Given the description of an element on the screen output the (x, y) to click on. 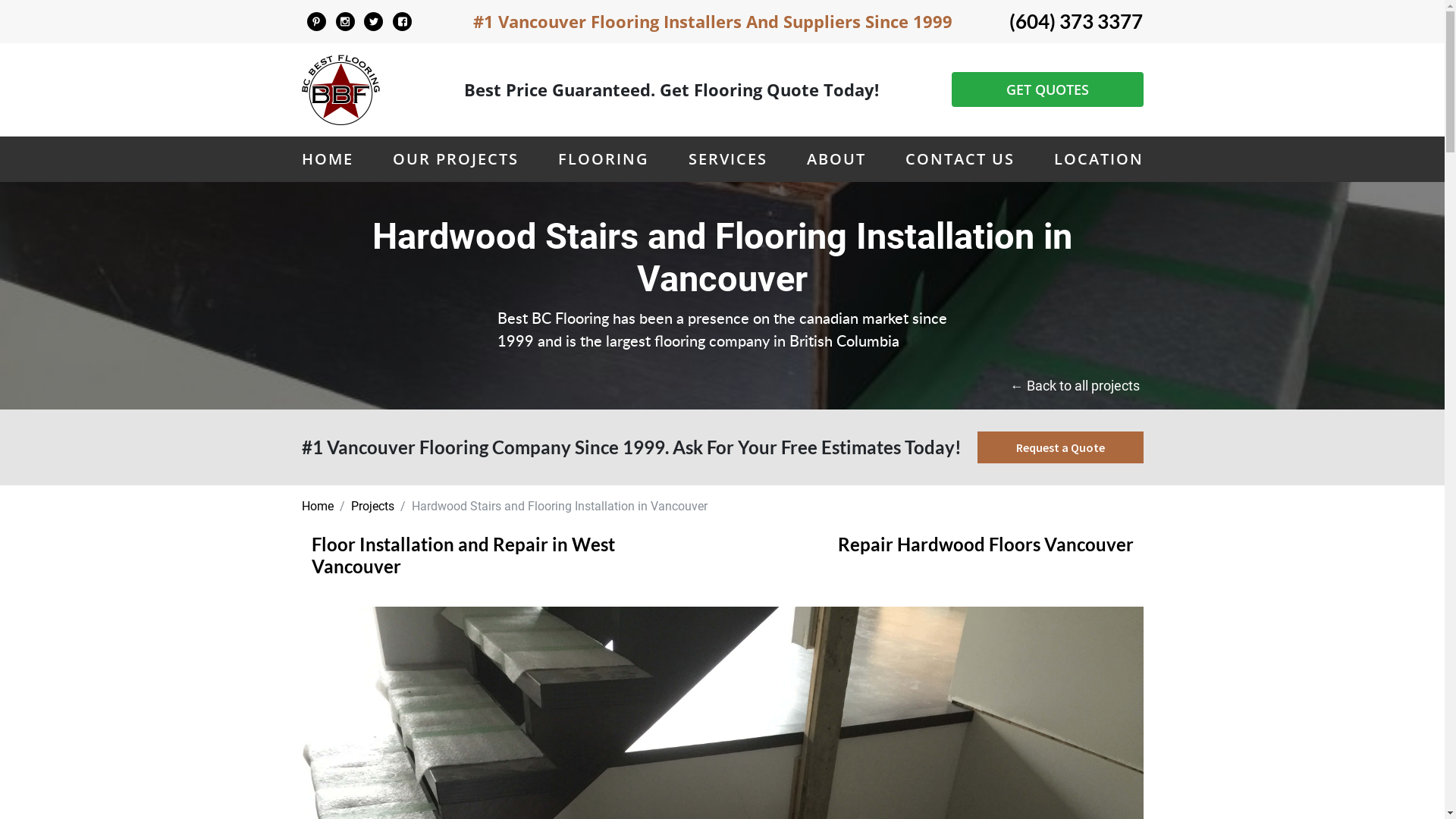
Home Element type: text (317, 505)
BC BEST FLOORING Element type: hover (402, 21)
Repair Hardwood Floors Vancouver Element type: text (985, 554)
Floor Installation and Repair in West Vancouver Element type: text (472, 554)
LOCATION Element type: text (1098, 158)
BC BEST FLOORING Element type: hover (315, 21)
GET QUOTES Element type: text (1046, 89)
HOME Element type: text (327, 158)
CONTACT US Element type: text (959, 158)
(604) 373 3377 Element type: text (1075, 21)
ABOUT Element type: text (836, 158)
SERVICES Element type: text (727, 158)
Request a Quote Element type: text (1059, 447)
OUR PROJECTS Element type: text (455, 158)
BC BEST FLOORING Element type: hover (340, 89)
Projects Element type: text (371, 505)
BC BEST FLOORING Element type: hover (344, 21)
BC BEST FLOORING Element type: hover (373, 21)
FLOORING Element type: text (603, 158)
